Given the description of an element on the screen output the (x, y) to click on. 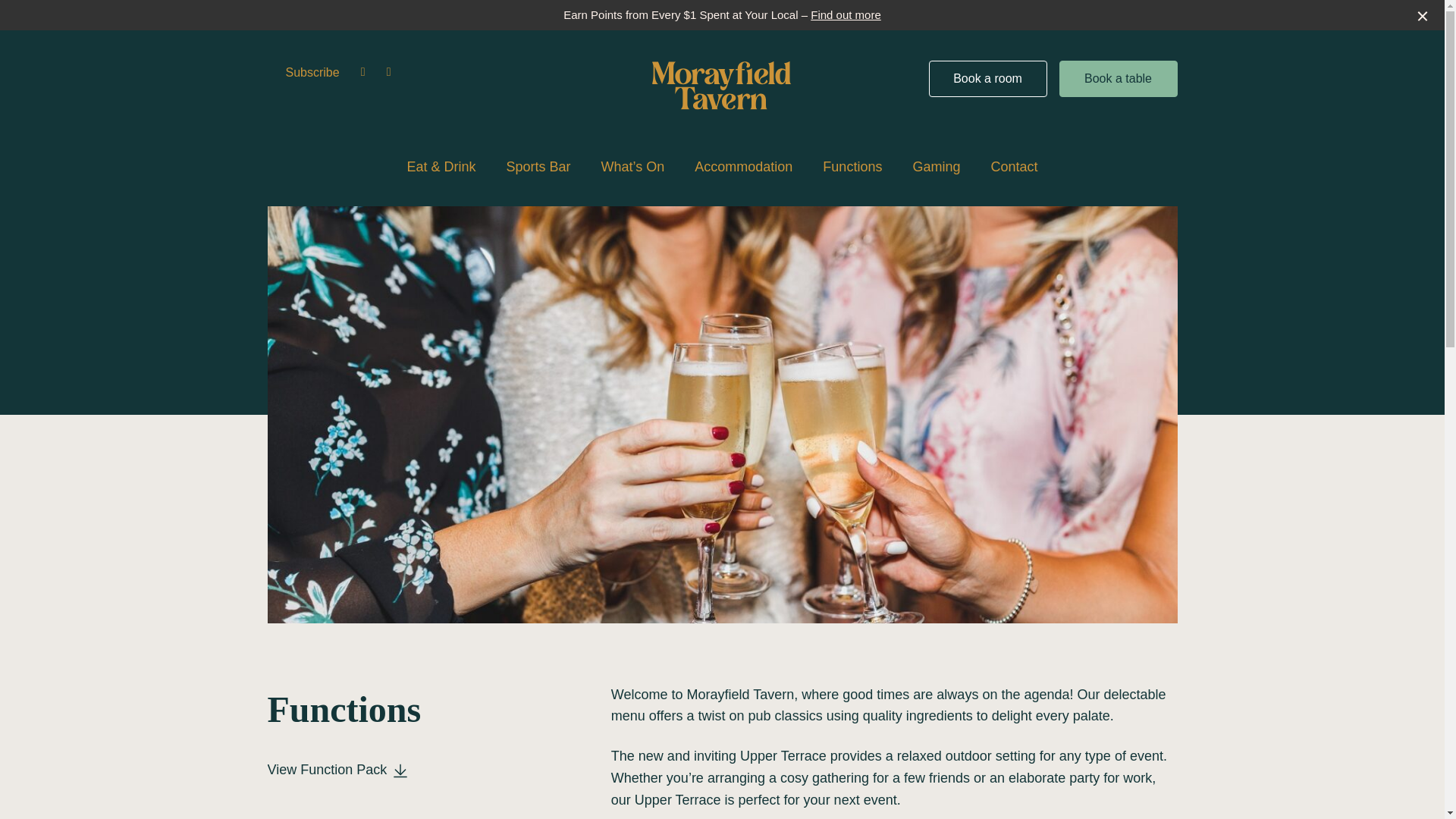
Sports Bar (538, 167)
Contact (1013, 167)
Gaming (935, 167)
Functions (852, 167)
Subscribe (312, 72)
Book a table (1118, 78)
Accommodation (743, 167)
Book a room (987, 78)
Find out more (845, 14)
